Given the description of an element on the screen output the (x, y) to click on. 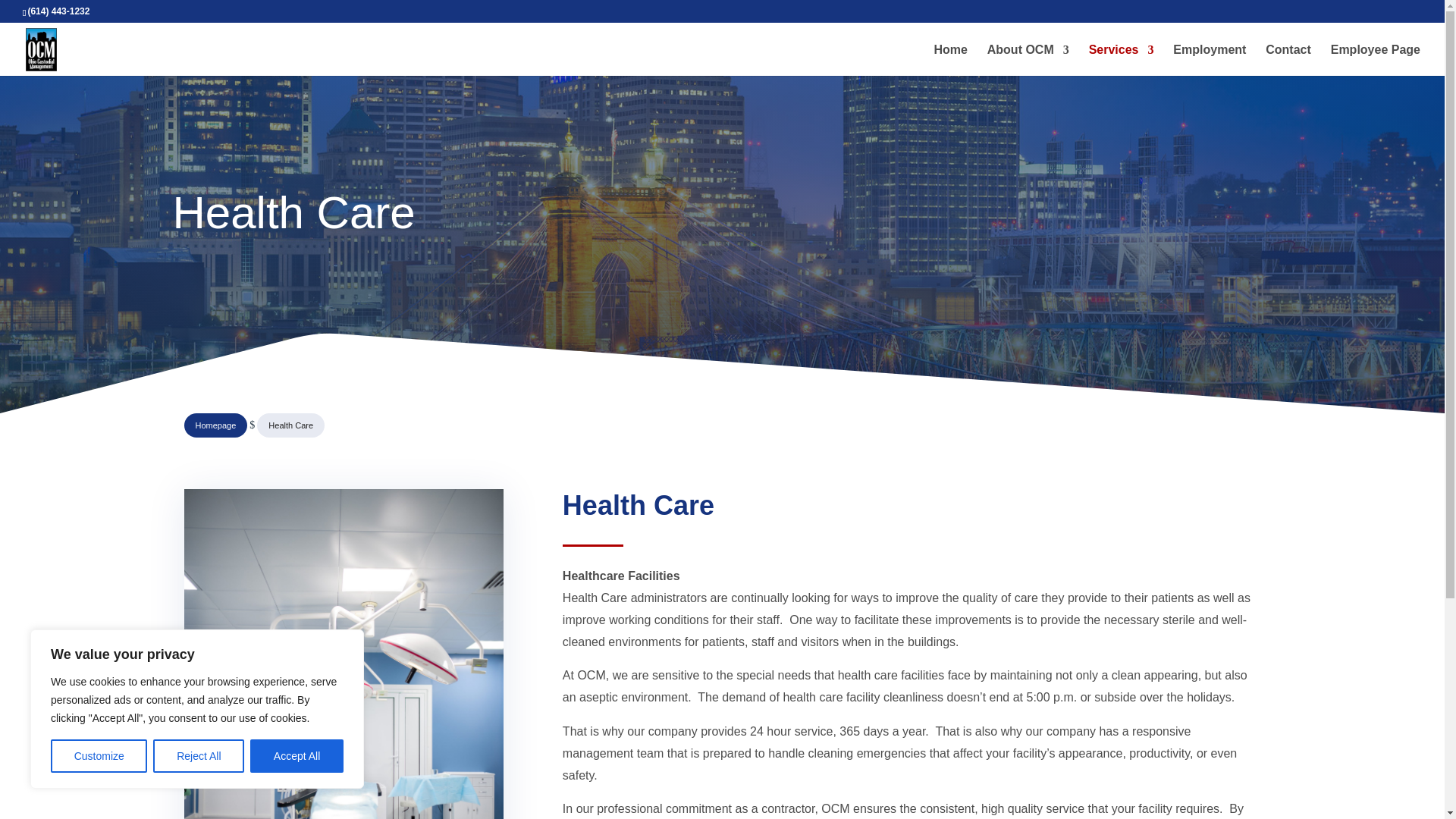
Customize (98, 756)
About OCM (1027, 57)
Reject All (198, 756)
Services (1121, 57)
Home (949, 57)
Accept All (296, 756)
